Given the description of an element on the screen output the (x, y) to click on. 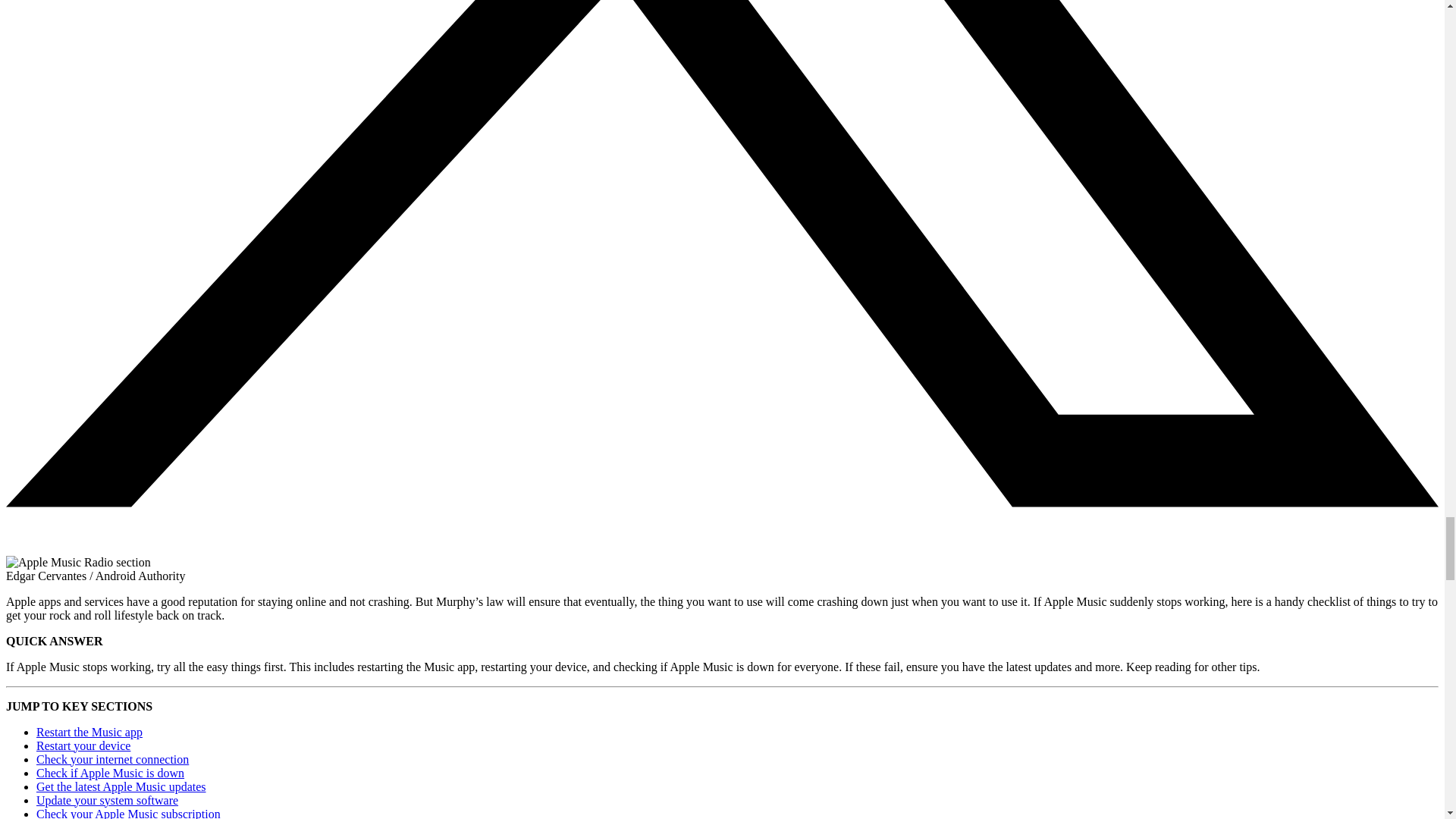
Get the latest Apple Music updates (121, 786)
Update your system software (106, 799)
Check if Apple Music is down (110, 772)
Restart the Music app (89, 731)
Check your internet connection (112, 758)
Check your Apple Music subscription (128, 813)
Restart your device (83, 745)
Apple Music Radio section (78, 562)
